Given the description of an element on the screen output the (x, y) to click on. 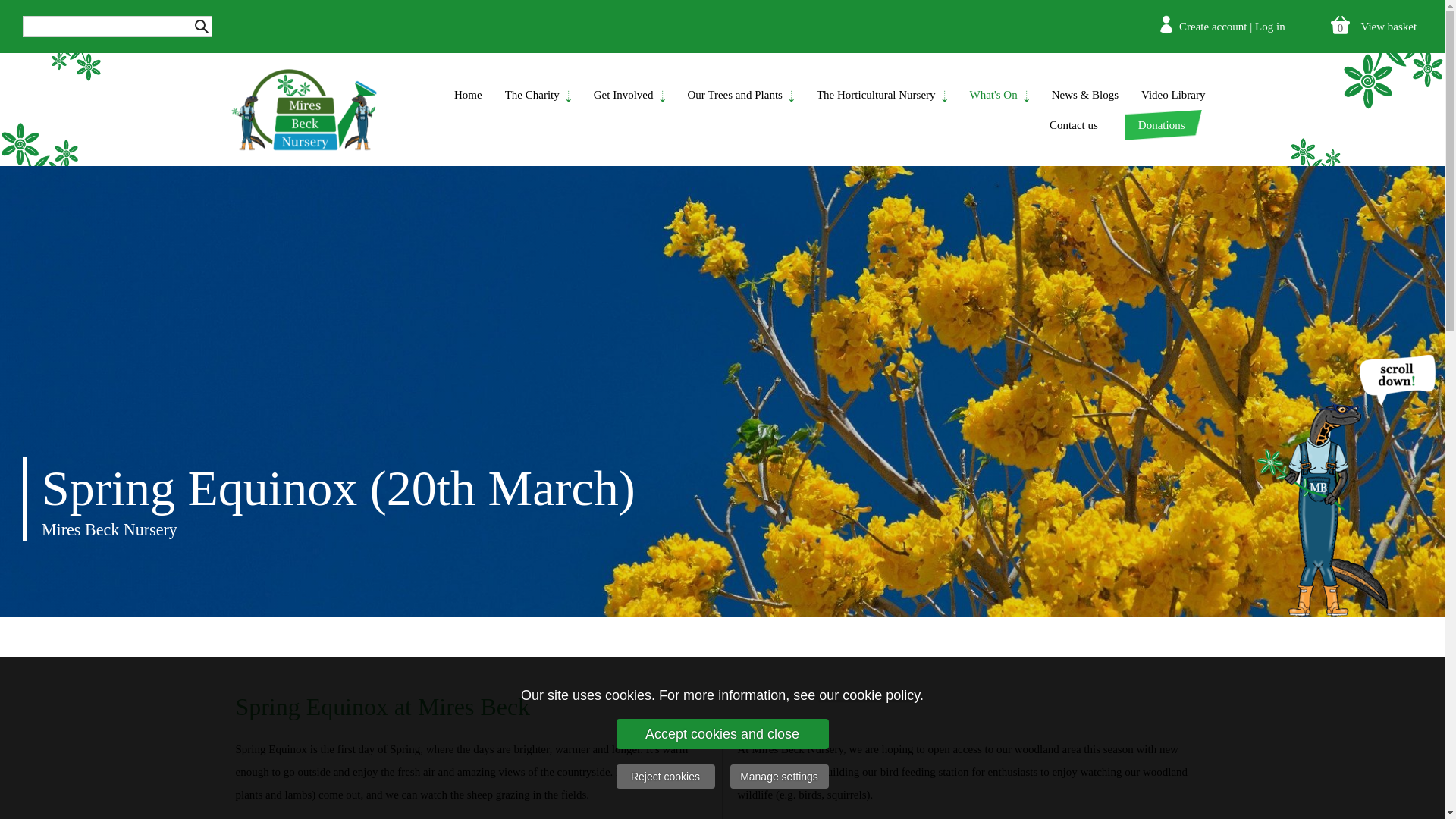
0 (1339, 24)
View basket (1387, 26)
Home (467, 93)
Log in (1270, 26)
Get Involved (629, 93)
Create account (1213, 26)
